Given the description of an element on the screen output the (x, y) to click on. 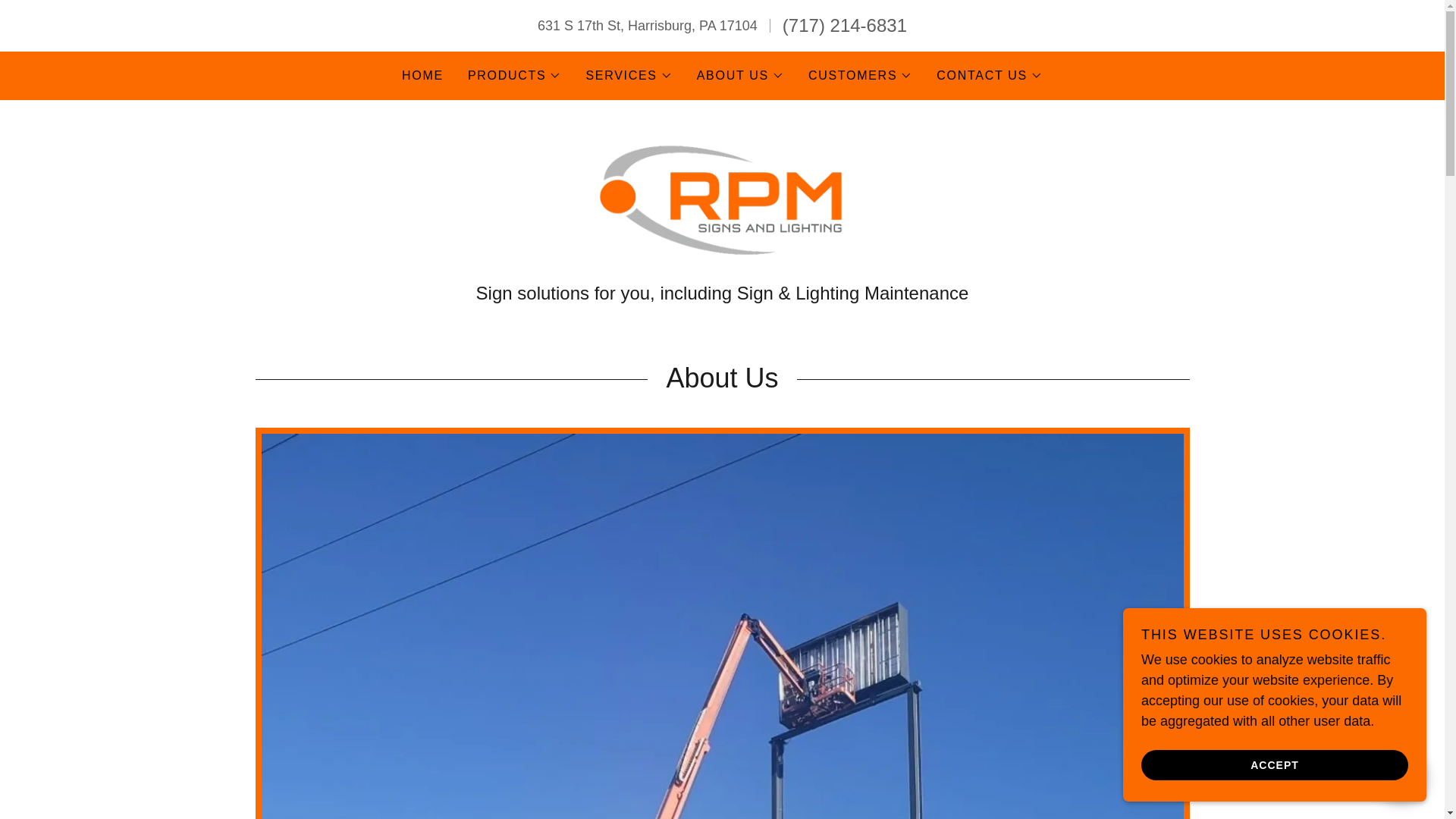
SERVICES (628, 75)
ABOUT US (740, 75)
HOME (422, 75)
PRODUCTS (513, 75)
CUSTOMERS (860, 75)
CONTACT US (989, 75)
Signs and Lighting for your business that you can trust  (721, 199)
